Given the description of an element on the screen output the (x, y) to click on. 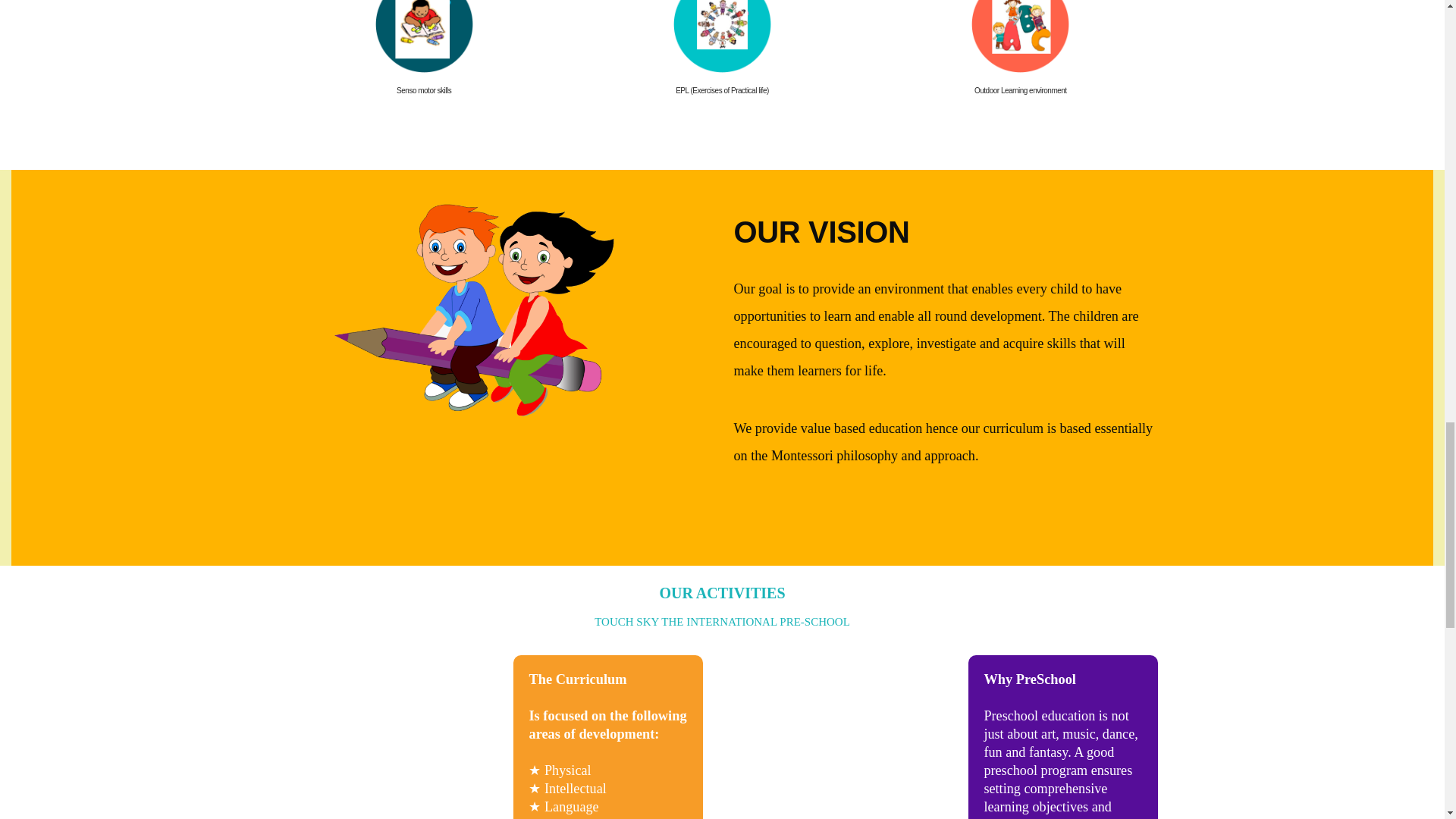
The Curriculum (577, 679)
